Given the description of an element on the screen output the (x, y) to click on. 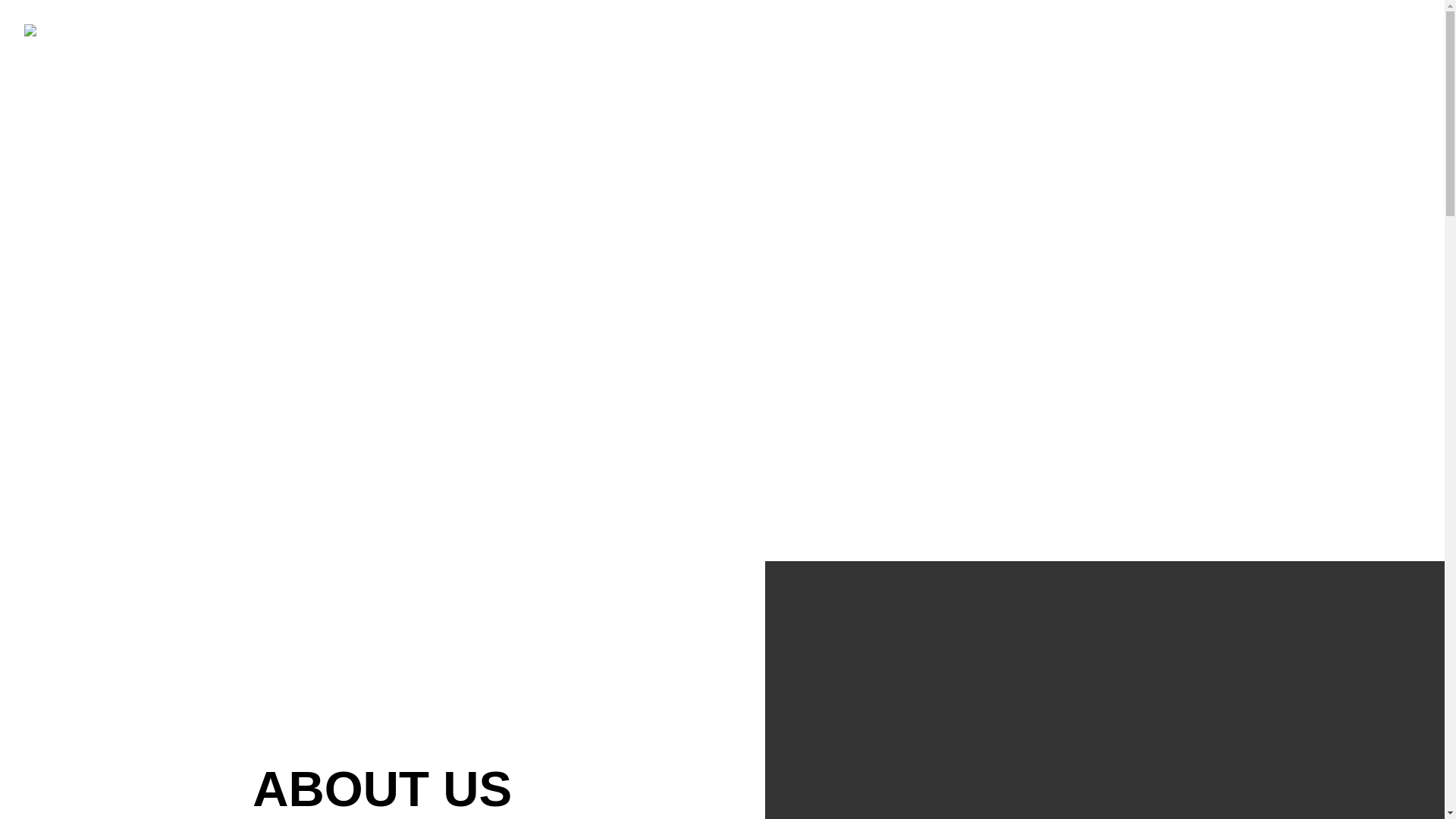
Book now (1301, 41)
